Given the description of an element on the screen output the (x, y) to click on. 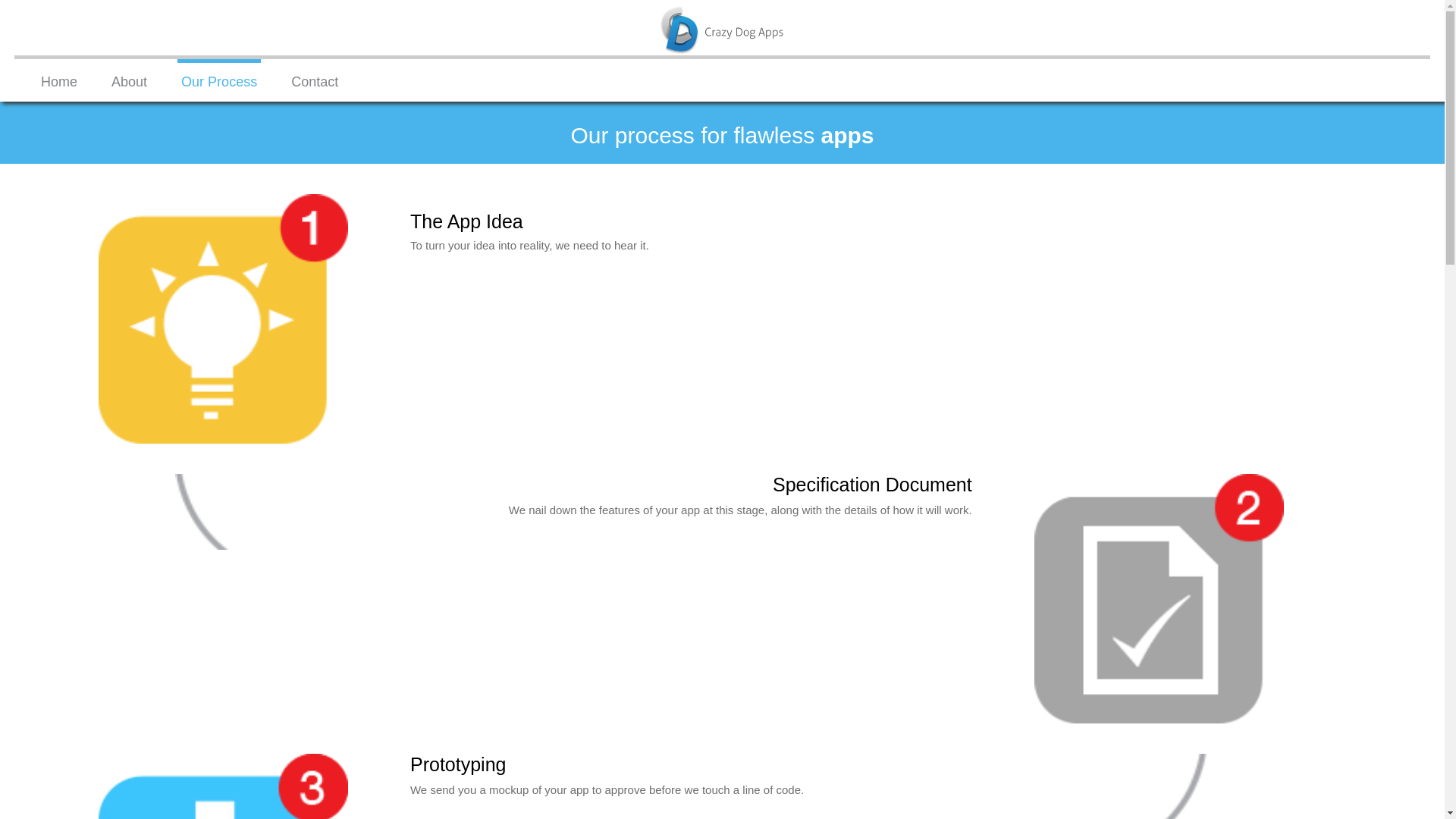
Our Process Element type: text (218, 80)
Contact Element type: text (314, 80)
About Element type: text (128, 80)
Home Element type: text (59, 80)
